Given the description of an element on the screen output the (x, y) to click on. 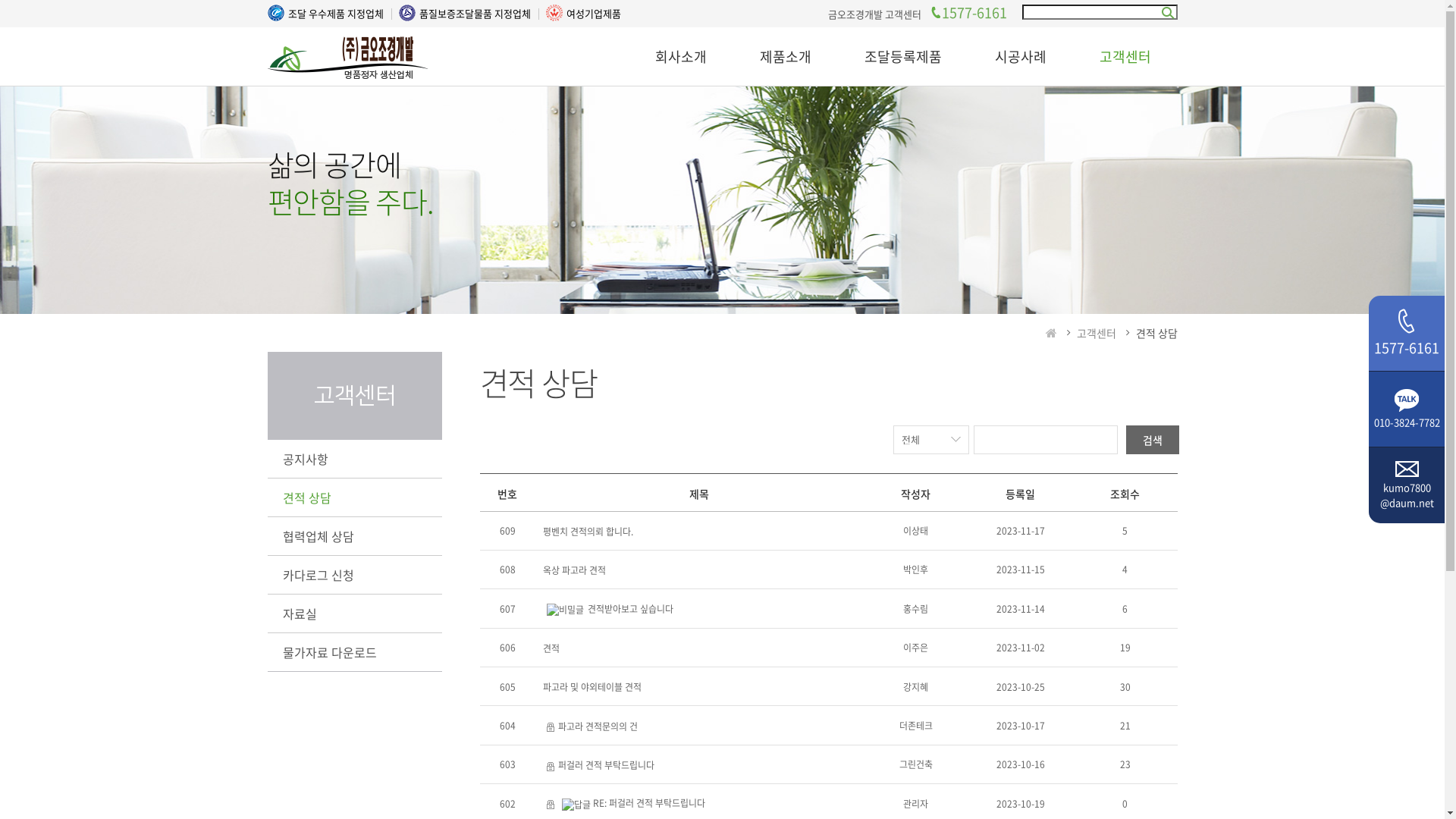
kumo7800
@daum.net Element type: text (1407, 494)
HOME Element type: text (1050, 332)
